Given the description of an element on the screen output the (x, y) to click on. 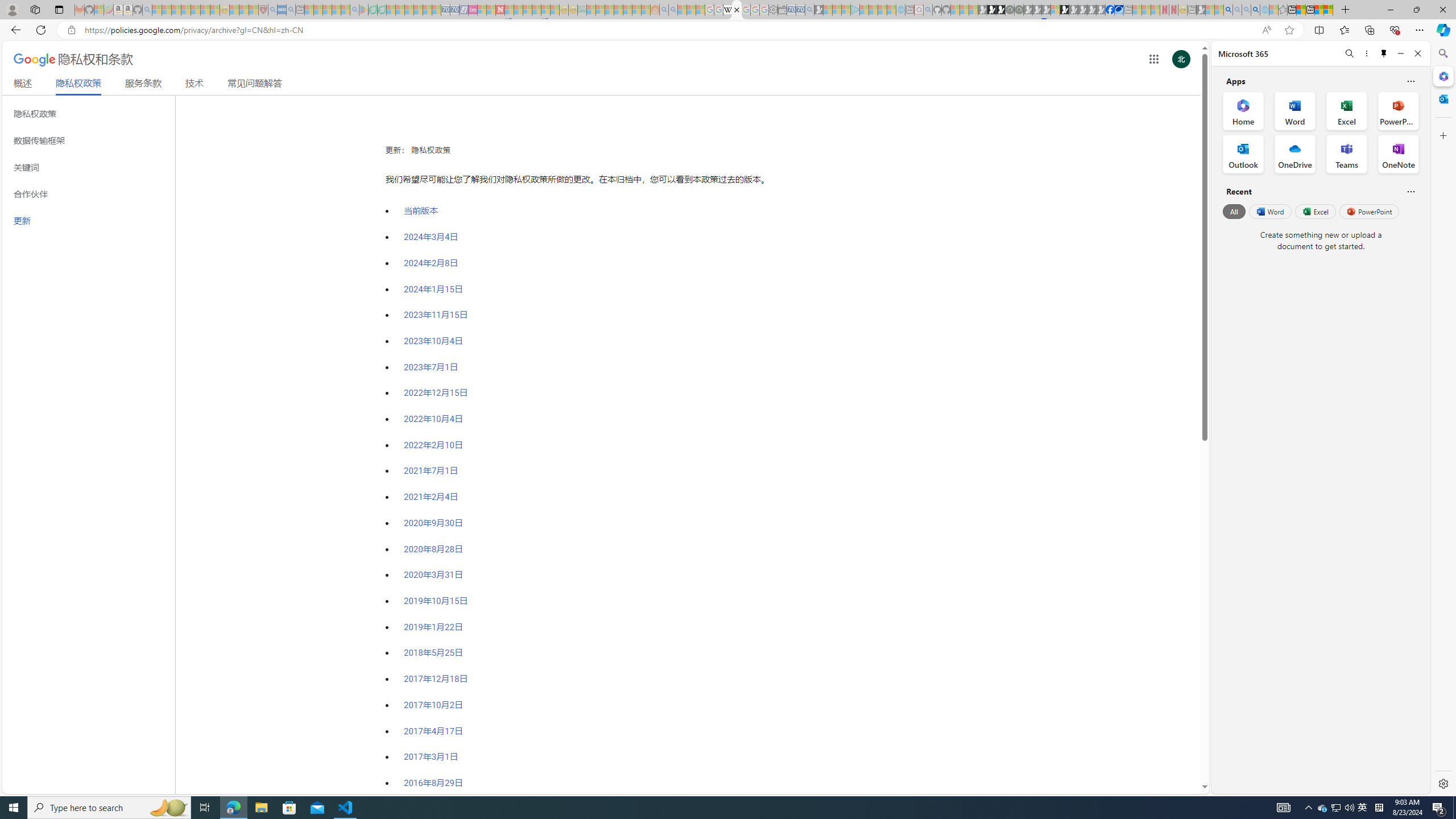
Sign in to your account - Sleeping (1054, 9)
Word (1269, 210)
